Given the description of an element on the screen output the (x, y) to click on. 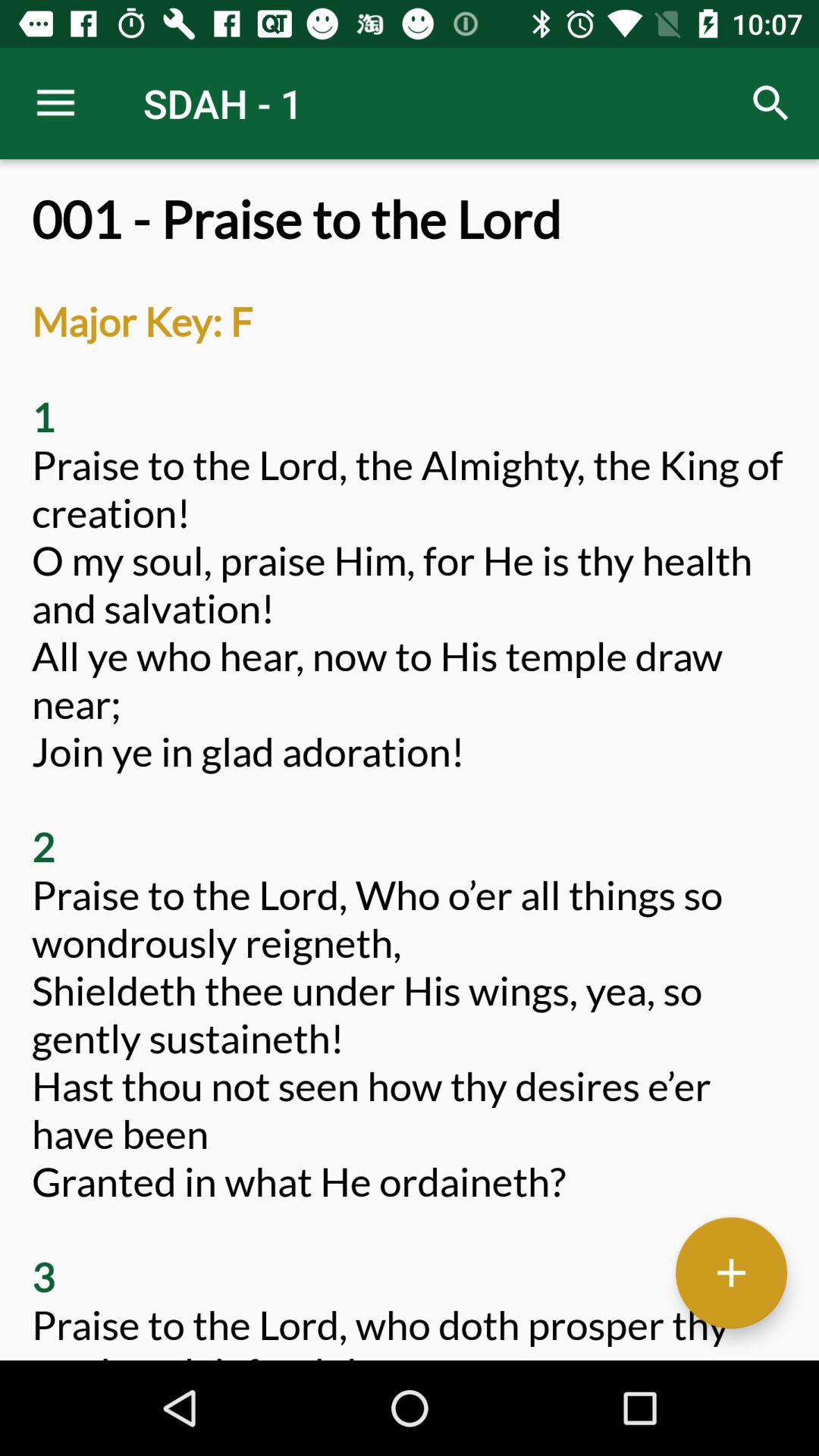
press the icon to the right of the sdah - 1 (771, 103)
